Given the description of an element on the screen output the (x, y) to click on. 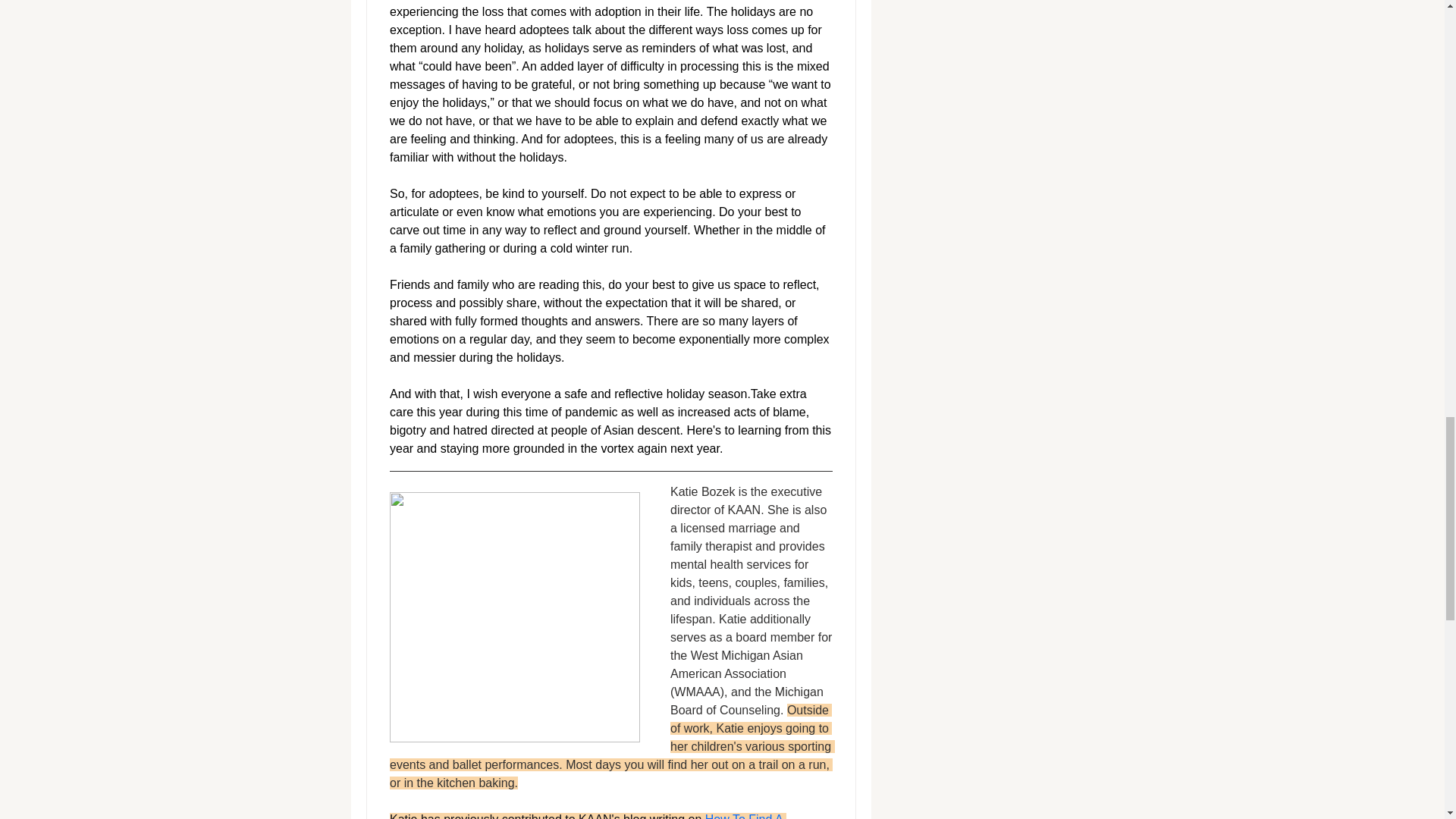
How To Find A Therapist (588, 816)
